Given the description of an element on the screen output the (x, y) to click on. 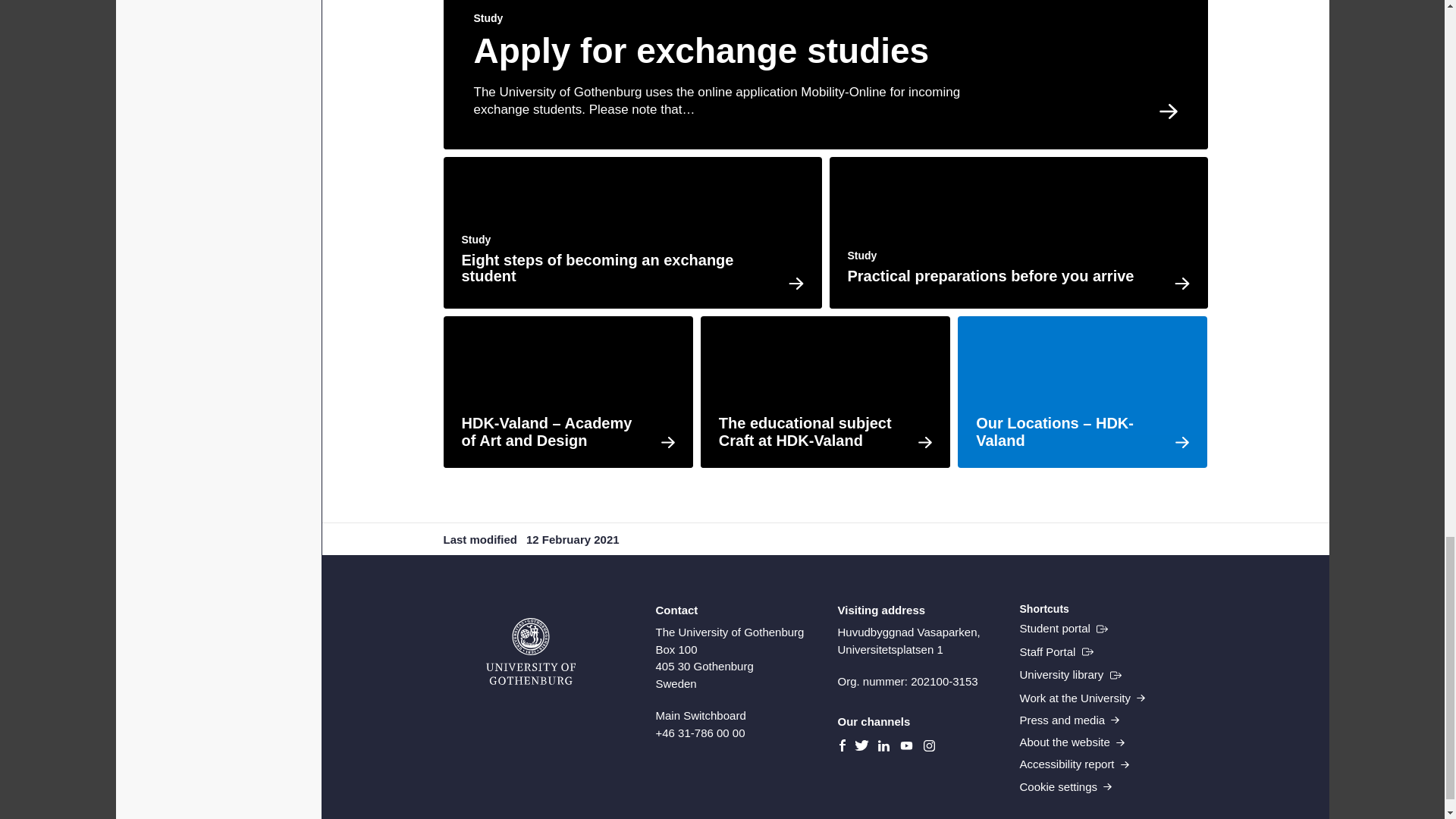
External link (1063, 629)
External link (1056, 652)
External link (1070, 675)
